Given the description of an element on the screen output the (x, y) to click on. 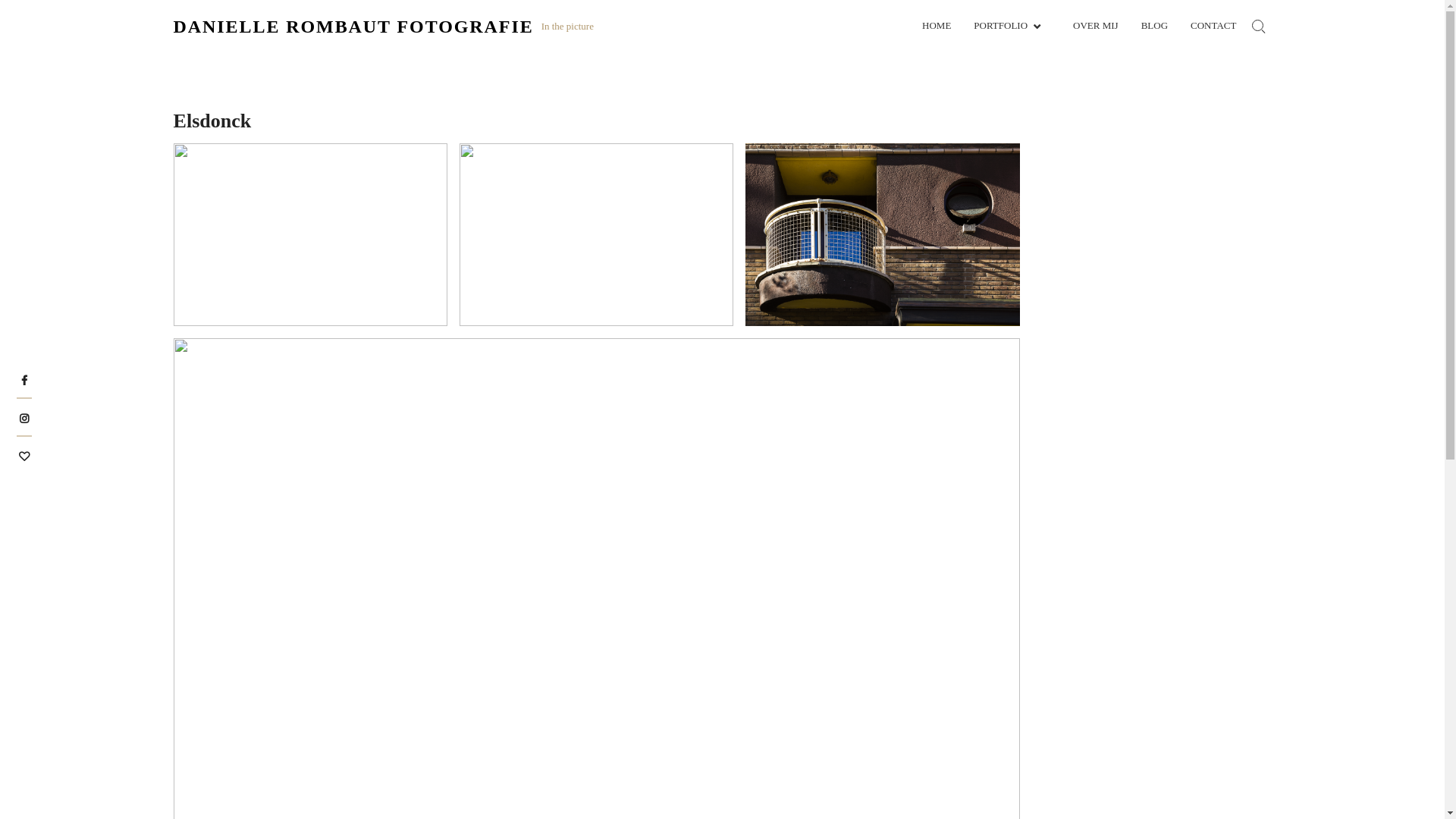
CONTACT Element type: text (1213, 25)
Search for: Element type: text (1257, 26)
HOME Element type: text (936, 25)
PORTFOLIO Element type: text (1011, 25)
Instagram Element type: text (23, 417)
Search Element type: text (397, 425)
E-mail Element type: text (23, 454)
Facebook Element type: text (24, 379)
DANIELLE ROMBAUT FOTOGRAFIE Element type: text (353, 26)
OVER MIJ Element type: text (1095, 25)
BLOG Element type: text (1154, 25)
